Given the description of an element on the screen output the (x, y) to click on. 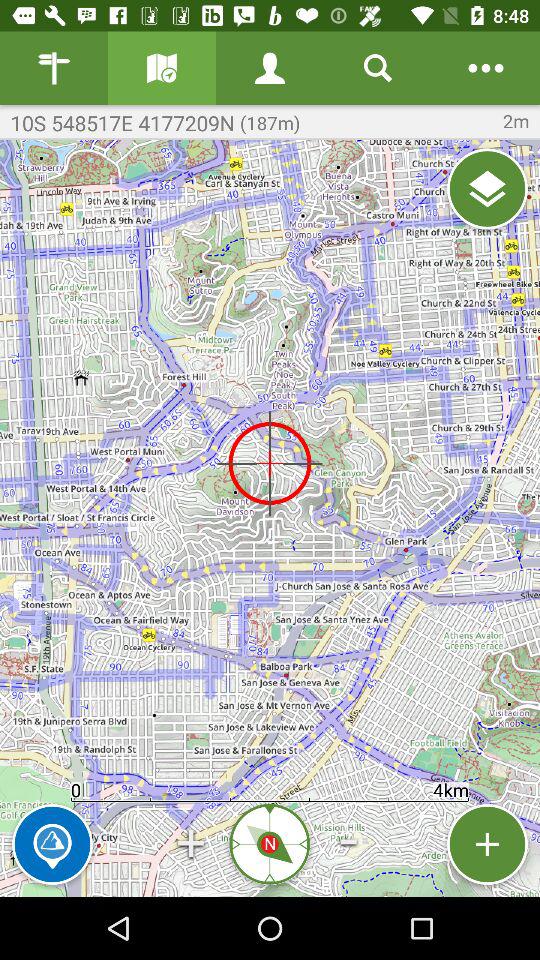
displays different map (162, 68)
